Given the description of an element on the screen output the (x, y) to click on. 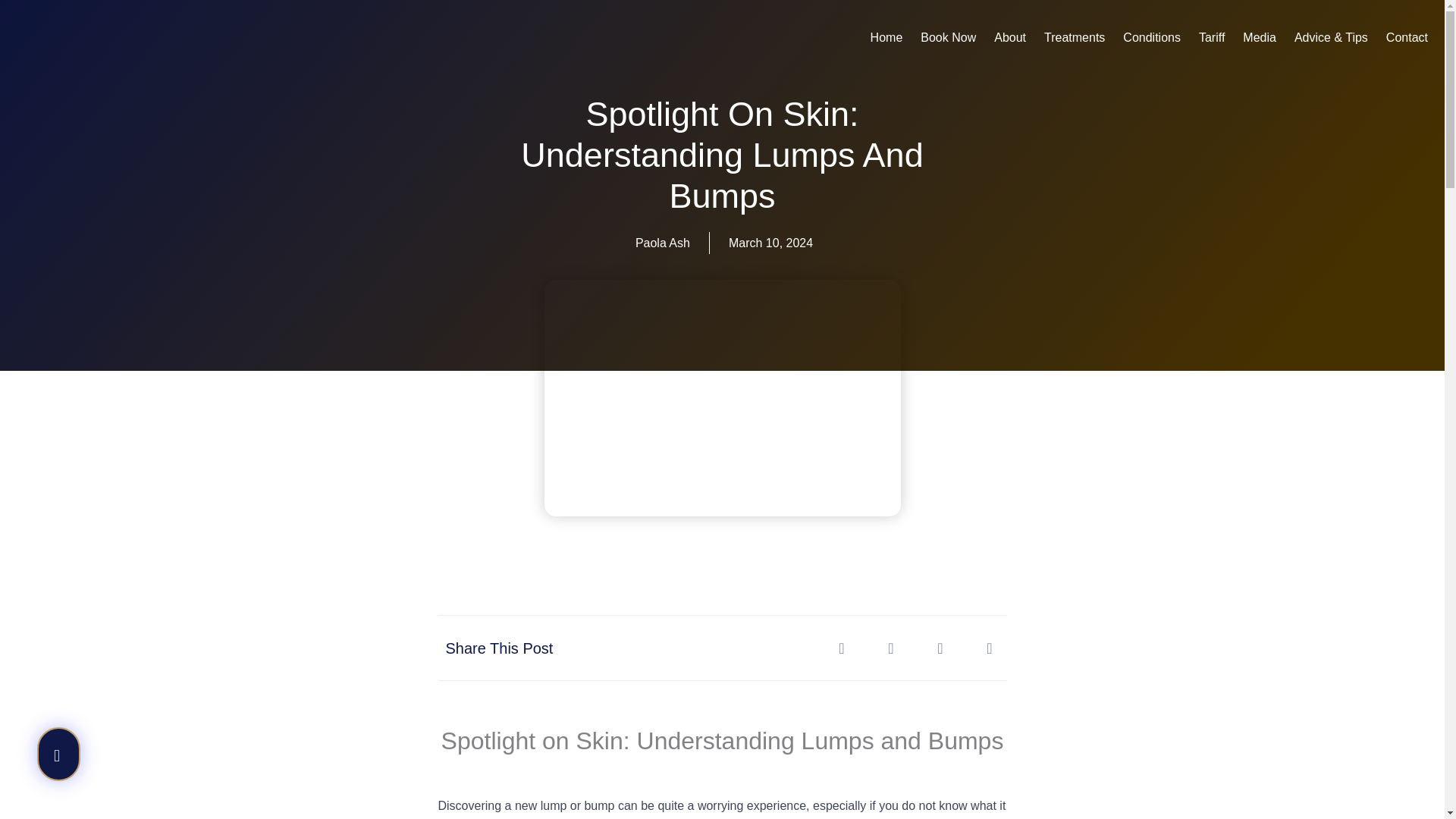
Tariff (1211, 37)
Home (886, 37)
Conditions (1151, 37)
Media (1259, 37)
About (1010, 37)
Treatments (1074, 37)
Book Now (948, 37)
Contact (1407, 37)
